Given the description of an element on the screen output the (x, y) to click on. 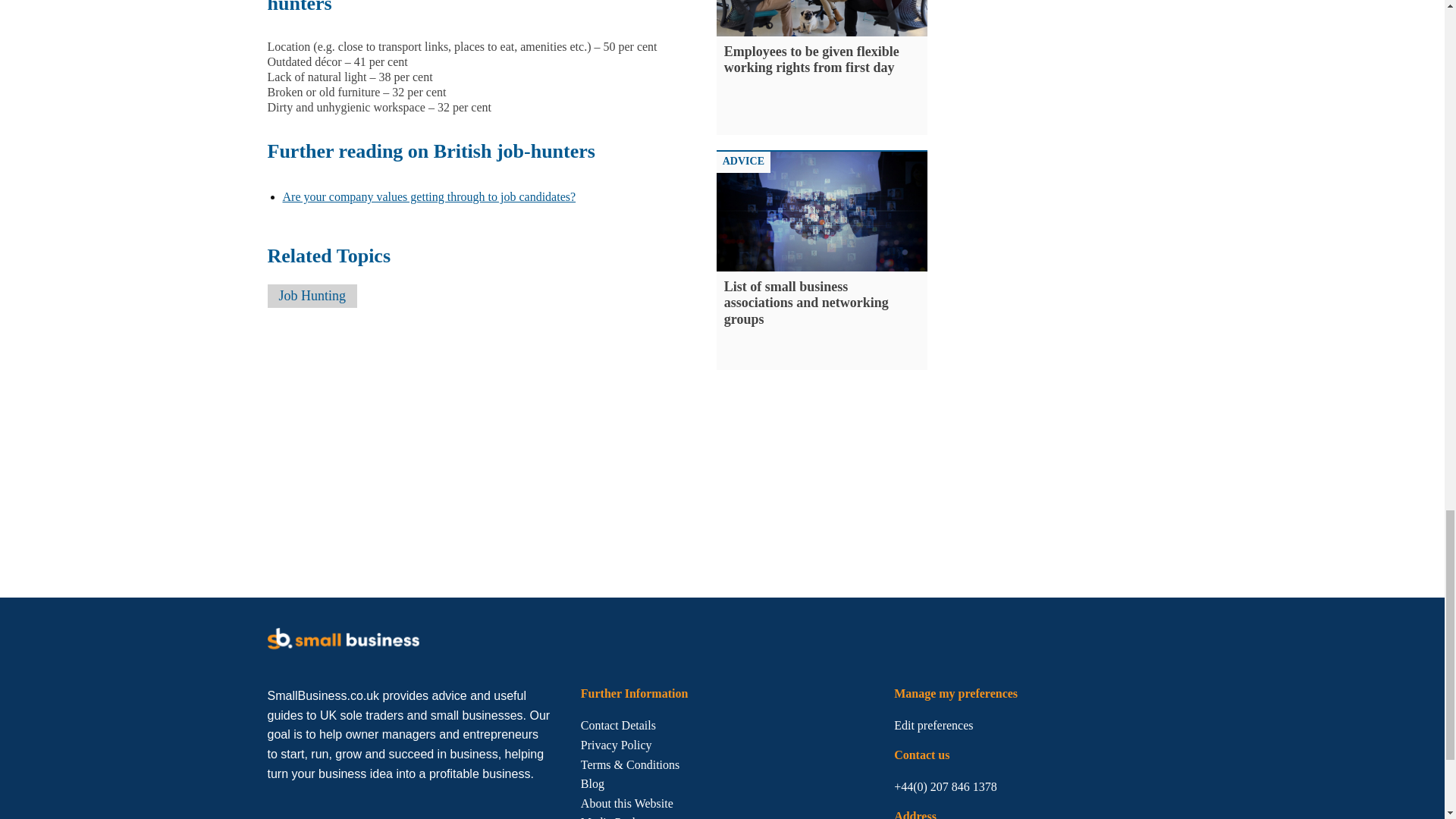
3rd party ad content (1062, 85)
